Given the description of an element on the screen output the (x, y) to click on. 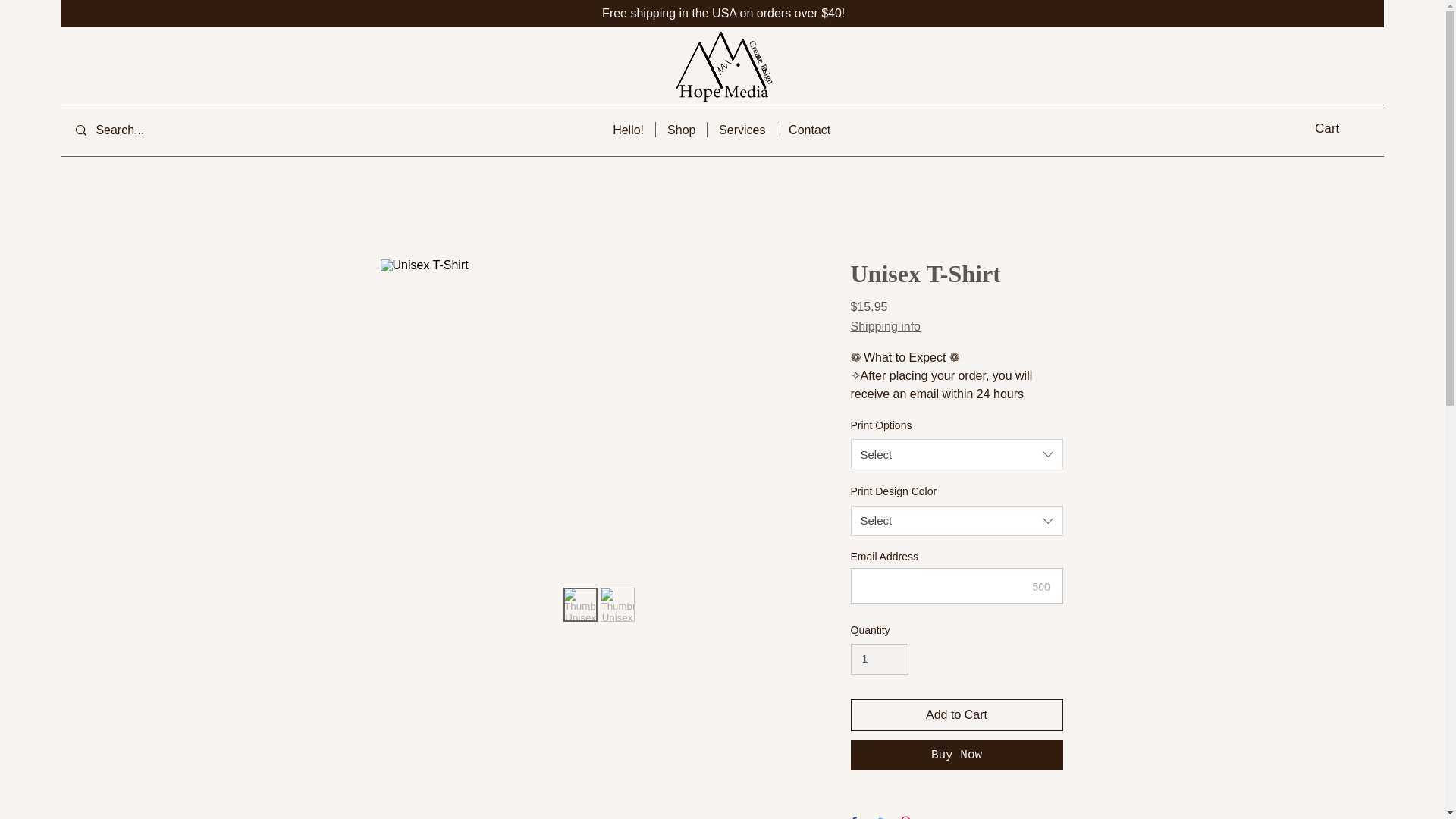
Select (956, 521)
Services (741, 129)
Buy Now (720, 78)
Contact (956, 755)
Cart (809, 129)
Shop (1336, 127)
1 (681, 129)
Select (879, 658)
